Given the description of an element on the screen output the (x, y) to click on. 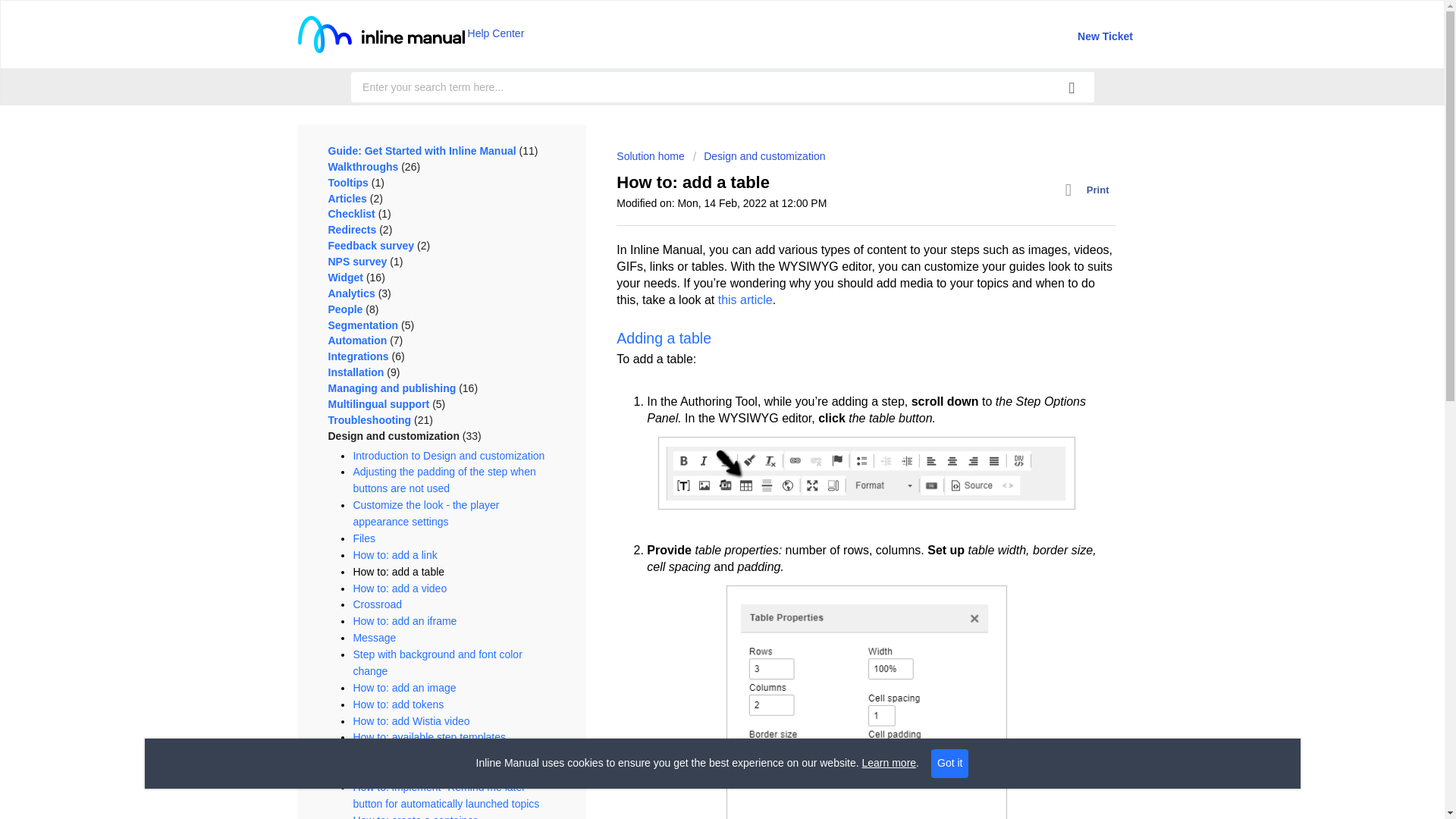
Print this Article (1090, 189)
New Ticket (1104, 36)
Help Center (410, 33)
